Given the description of an element on the screen output the (x, y) to click on. 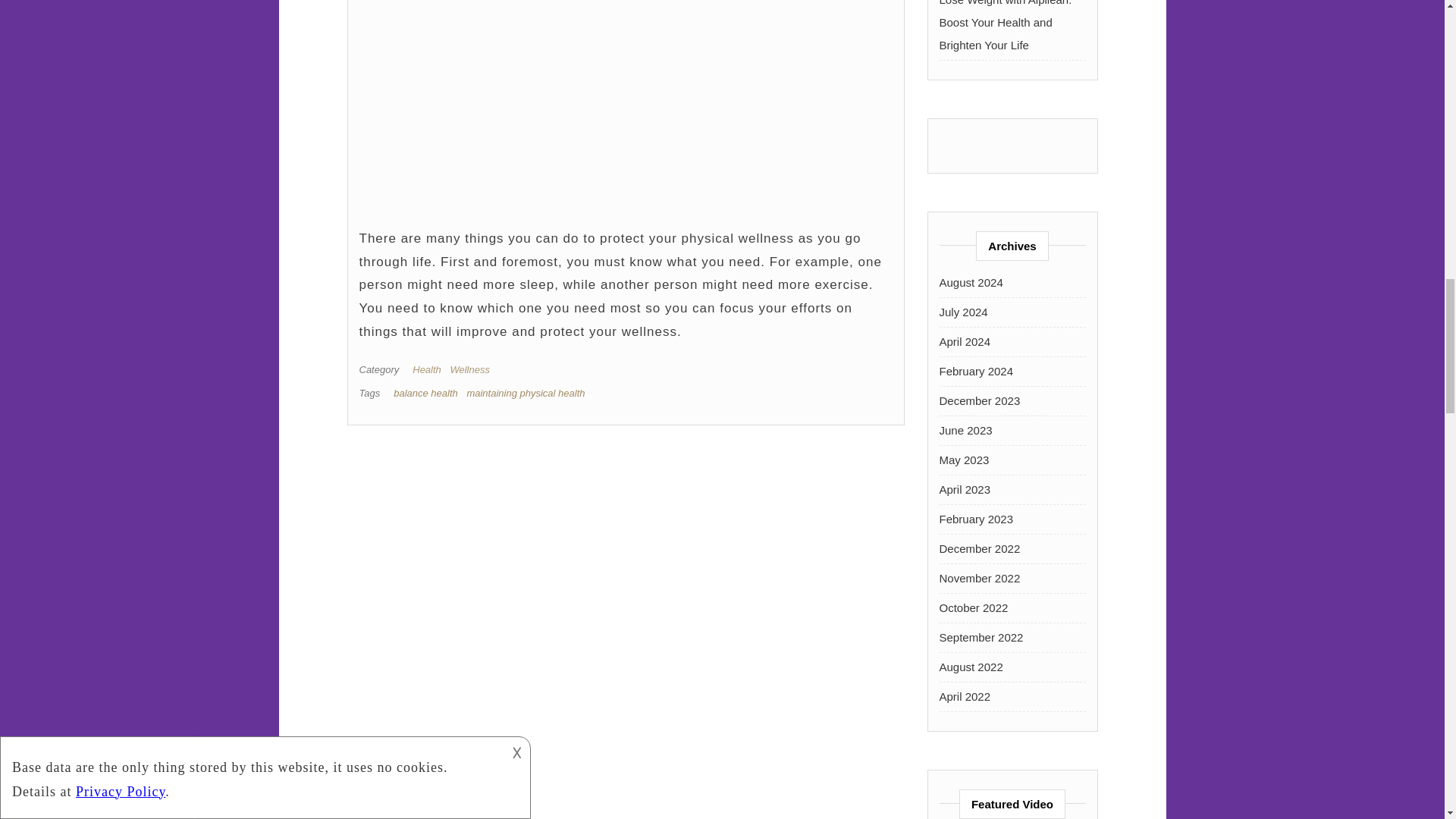
August 2024 (971, 282)
December 2023 (979, 400)
maintaining physical health (525, 392)
May 2023 (963, 459)
July 2024 (963, 311)
April 2023 (964, 489)
Health (429, 369)
December 2022 (979, 548)
February 2024 (976, 370)
